Given the description of an element on the screen output the (x, y) to click on. 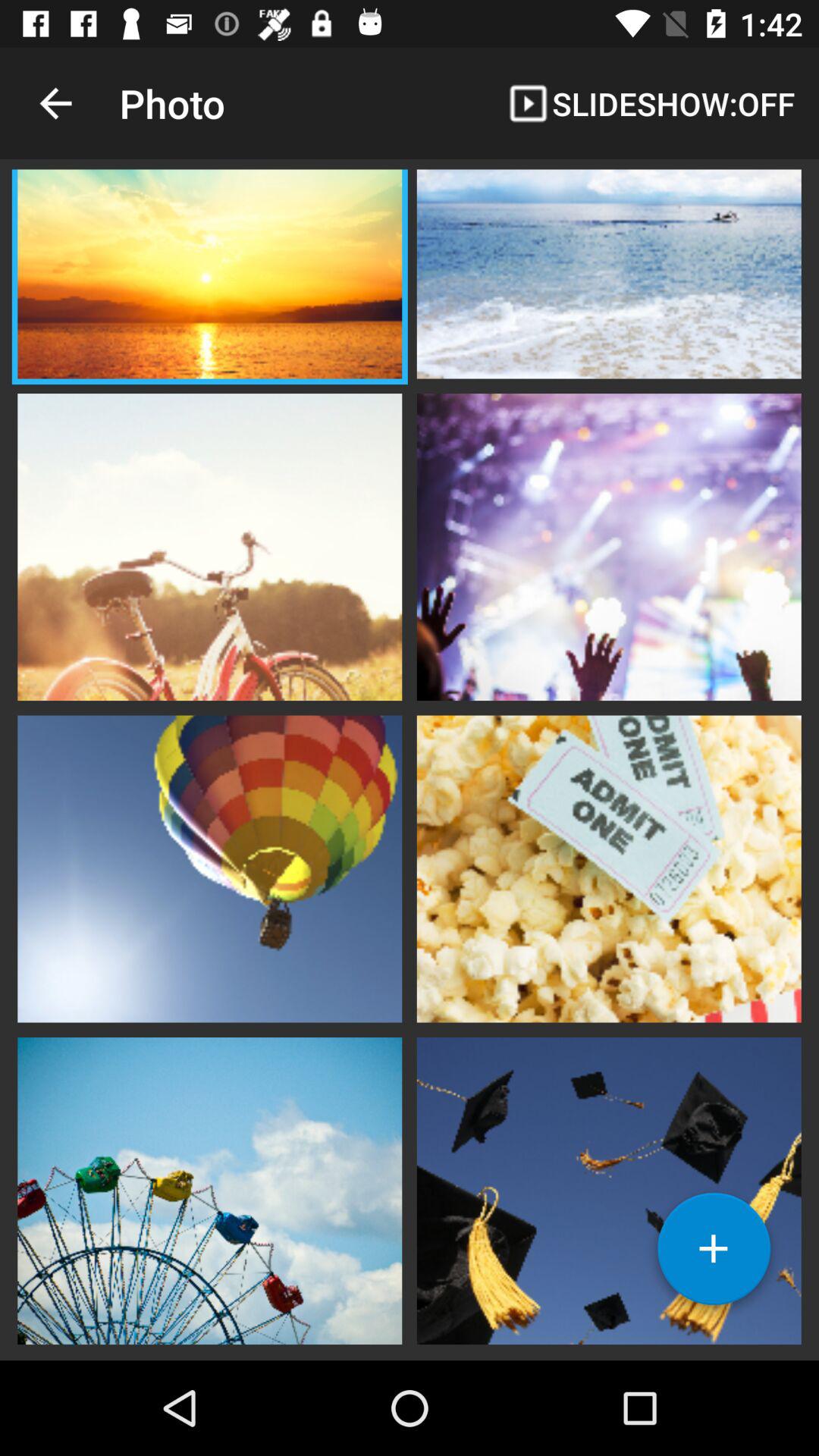
click to open (609, 1189)
